Given the description of an element on the screen output the (x, y) to click on. 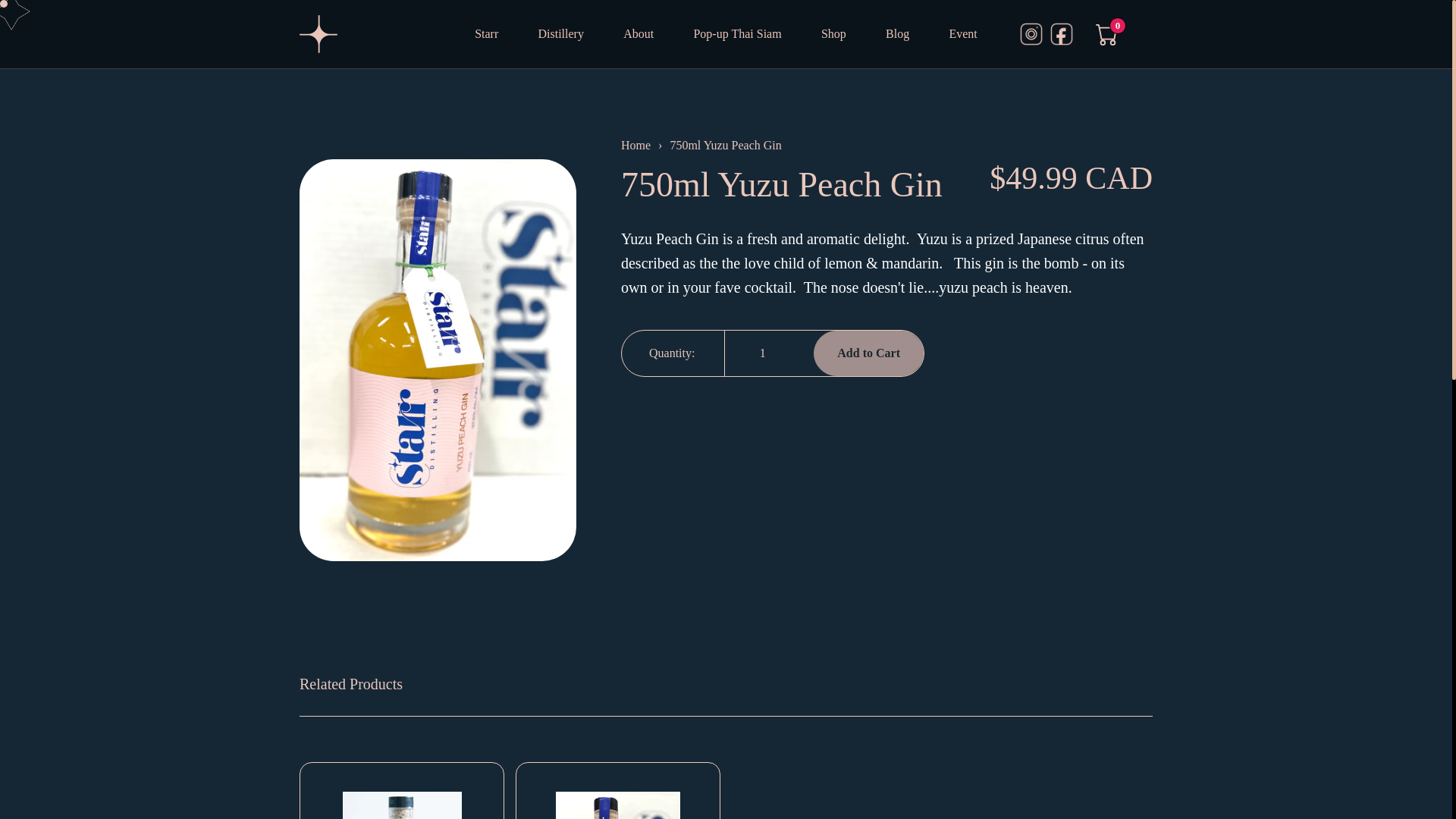
Add to Cart (868, 352)
Distillery (560, 33)
Home (635, 145)
Pop-up Thai Siam (736, 33)
Event (962, 33)
Home (635, 145)
Starr (485, 33)
0 (1107, 32)
Add to Cart (868, 352)
About (638, 33)
Blog (896, 33)
1 (766, 352)
Shop (833, 33)
